Given the description of an element on the screen output the (x, y) to click on. 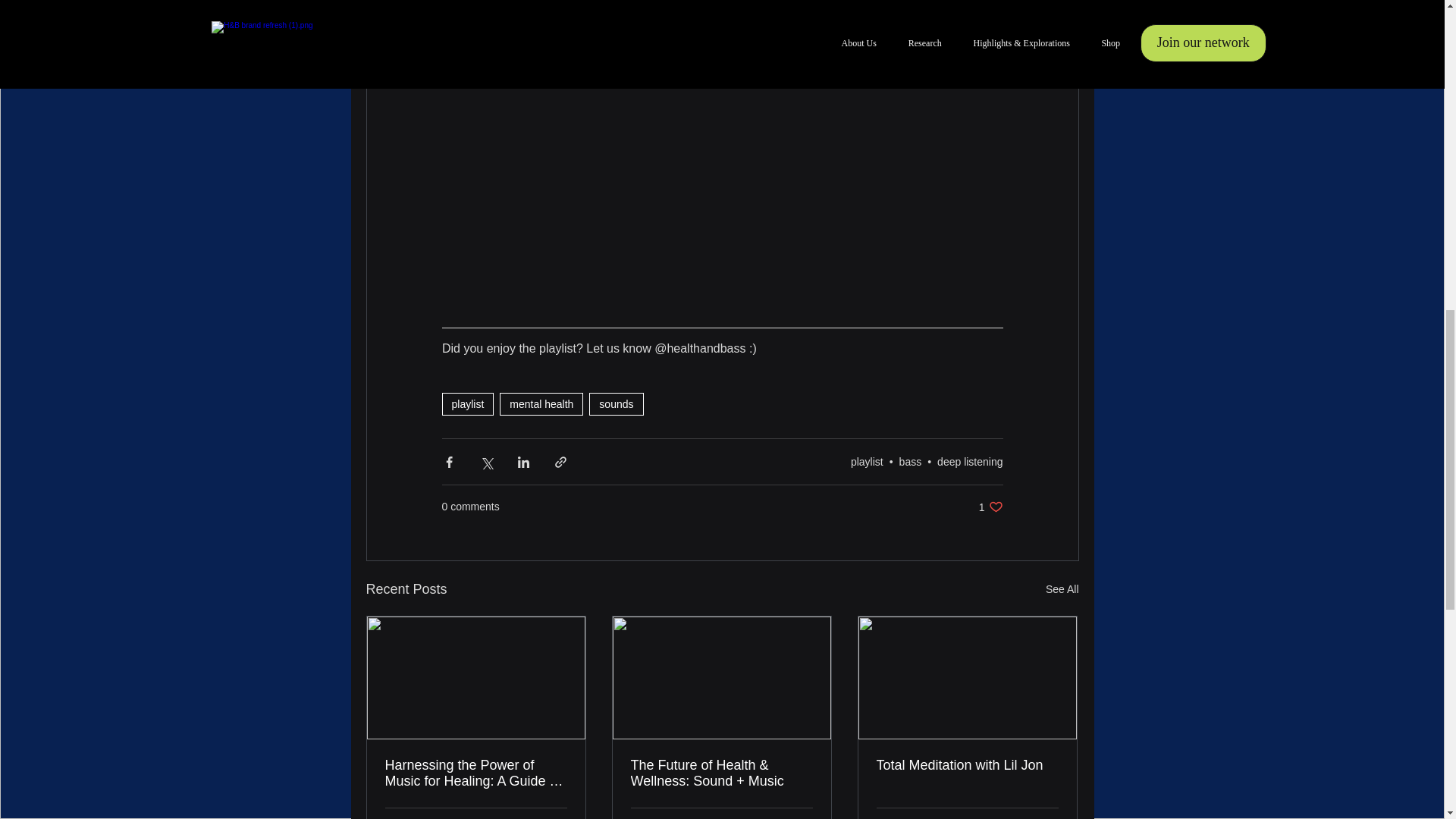
sounds (616, 404)
playlist (467, 404)
playlist (866, 460)
Total Meditation with Lil Jon (967, 765)
deep listening (970, 460)
See All (990, 506)
mental health (1061, 589)
bass (541, 404)
